Given the description of an element on the screen output the (x, y) to click on. 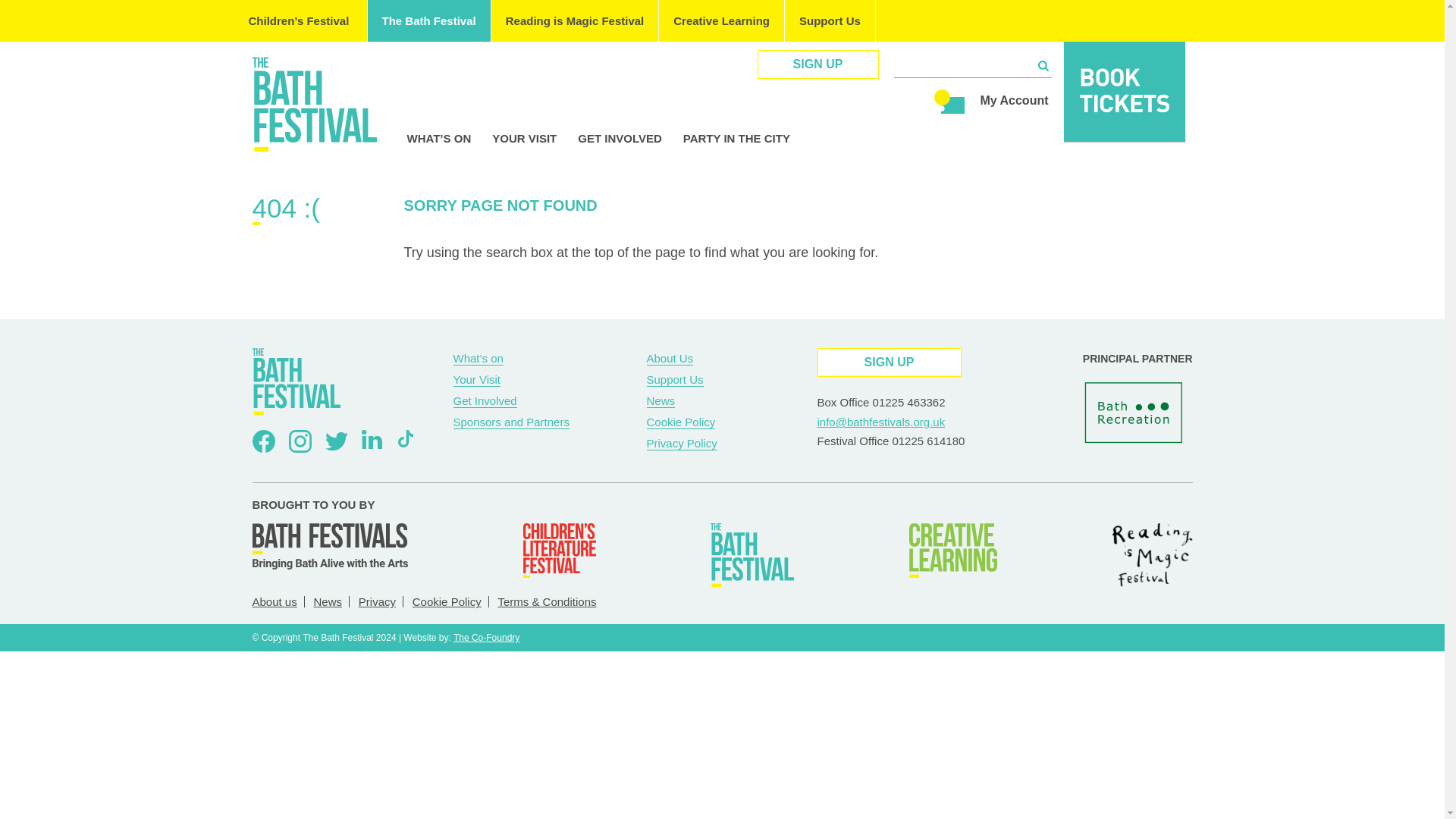
PARTY IN THE CITY (736, 137)
Creative Learning (721, 20)
The Bath Festival (427, 20)
SIGN UP (817, 63)
Support Us (829, 20)
Reading is Magic Festival (575, 20)
My Account (1013, 100)
Search (1042, 65)
GET INVOLVED (620, 137)
YOUR VISIT (524, 137)
